Given the description of an element on the screen output the (x, y) to click on. 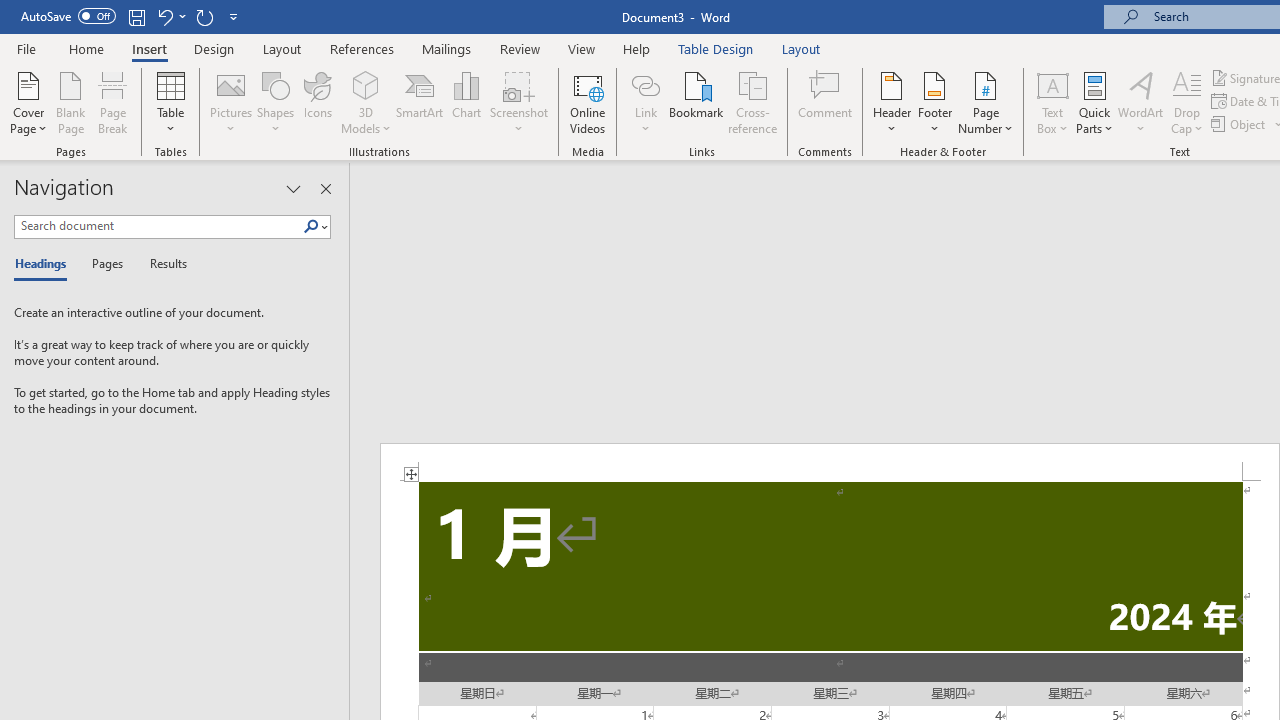
Quick Access Toolbar (131, 16)
Home (86, 48)
Undo Increase Indent (170, 15)
Mailings (447, 48)
Task Pane Options (293, 188)
Layout (801, 48)
Pictures (230, 102)
Link (645, 102)
WordArt (1141, 102)
SmartArt... (419, 102)
Header -Section 1- (830, 461)
More Options (645, 121)
Headings (45, 264)
File Tab (26, 48)
